Given the description of an element on the screen output the (x, y) to click on. 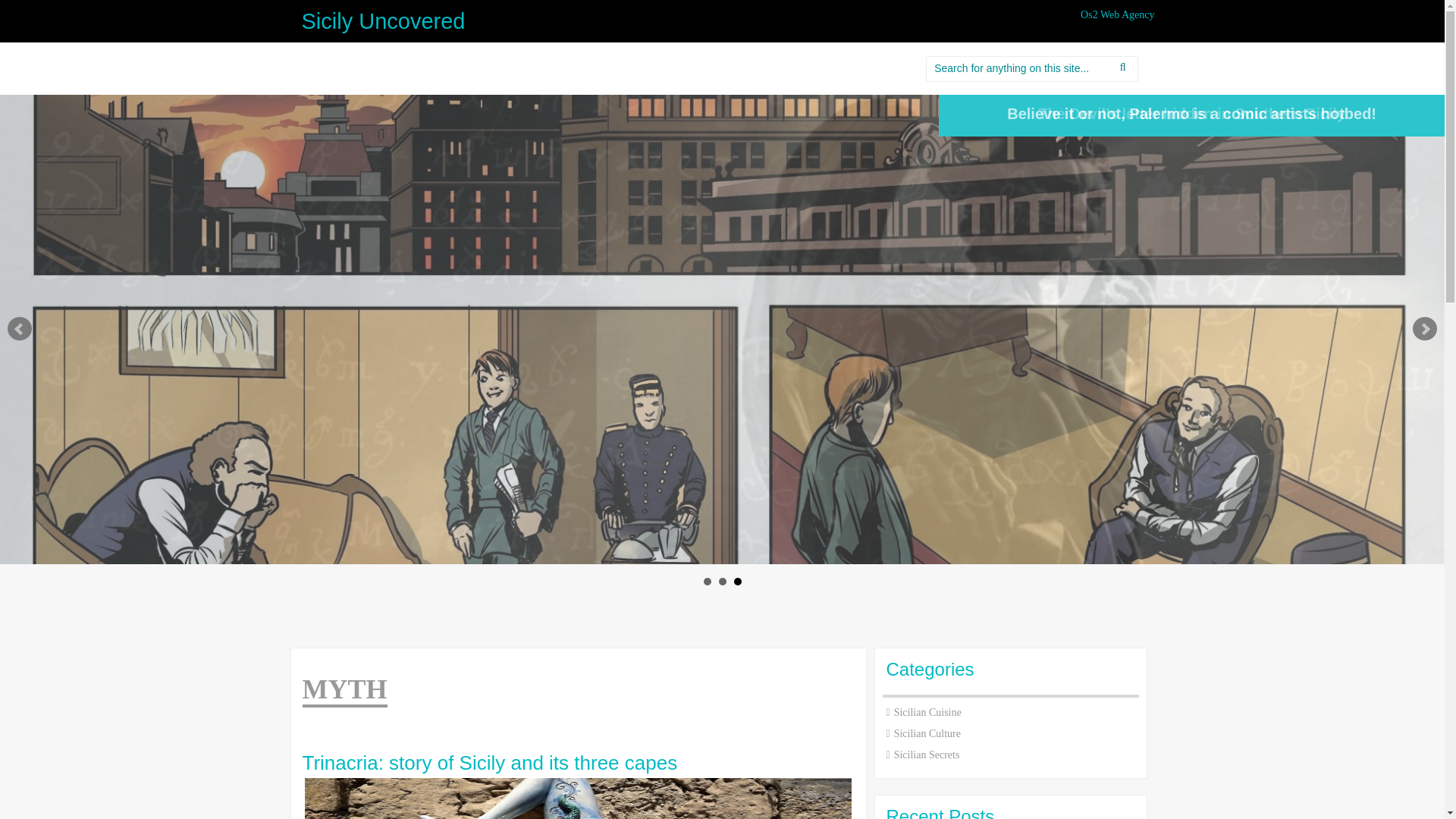
Os2 Web Agency (1117, 14)
Sicilian Culture (926, 733)
Trinacria: story of Sicily and its three capes (577, 762)
Prev (19, 328)
Next (1424, 328)
Sicily Uncovered (383, 21)
Sicilian Secrets (926, 754)
1 (707, 581)
Believe it or not, Palermo is a comic artists hotbed! (1191, 113)
Sicilian Cuisine (926, 712)
Sicily Uncovered (383, 21)
2 (722, 581)
3 (737, 581)
